Given the description of an element on the screen output the (x, y) to click on. 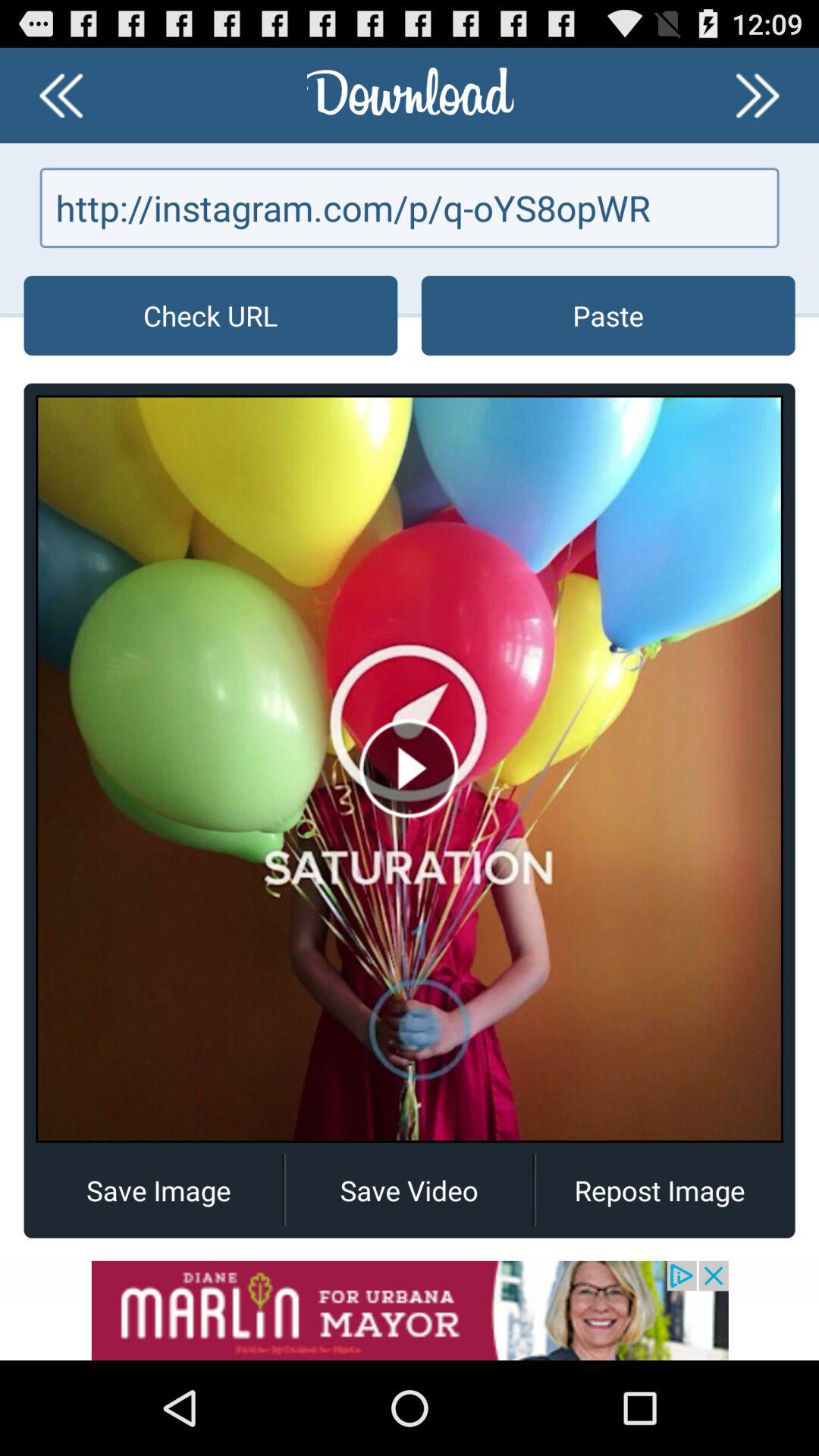
go to previous (61, 95)
